Given the description of an element on the screen output the (x, y) to click on. 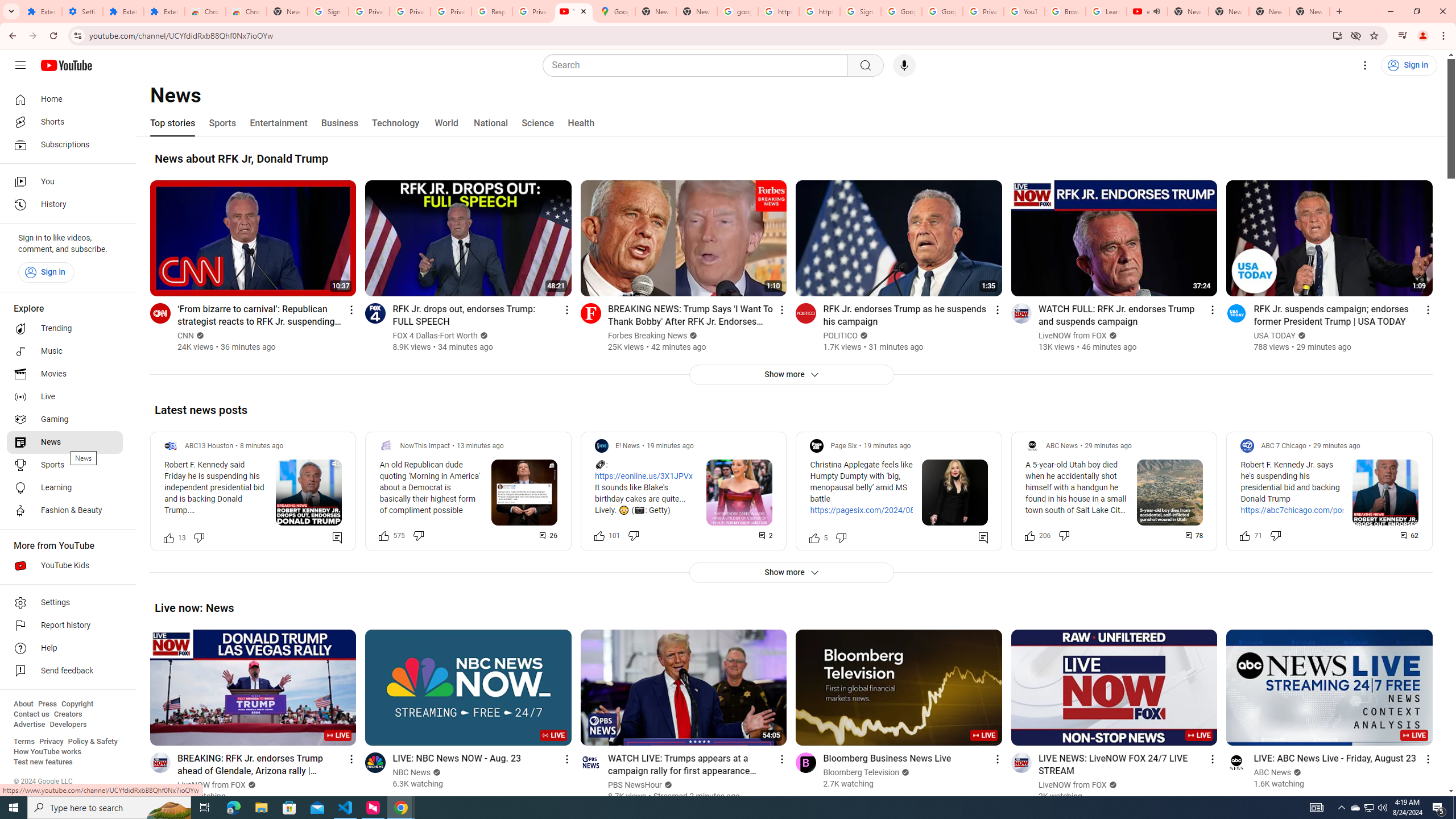
Settings (81, 11)
World (446, 122)
https://scholar.google.com/ (777, 11)
Creators (67, 714)
About (23, 703)
Chrome Web Store - Themes (246, 11)
Like this post along with 101 other people (598, 534)
News (64, 441)
Live (64, 396)
Google Maps (614, 11)
